Given the description of an element on the screen output the (x, y) to click on. 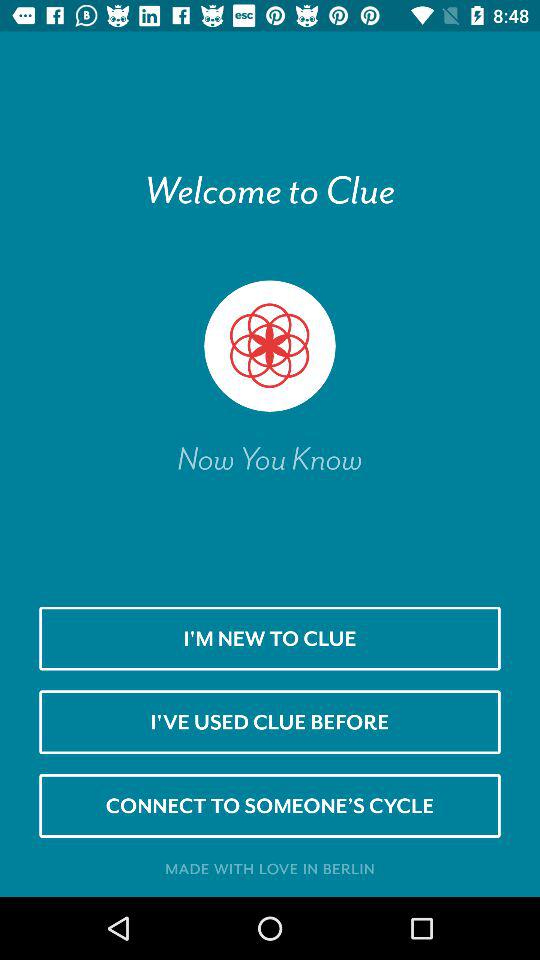
tap connect to someone icon (269, 805)
